Given the description of an element on the screen output the (x, y) to click on. 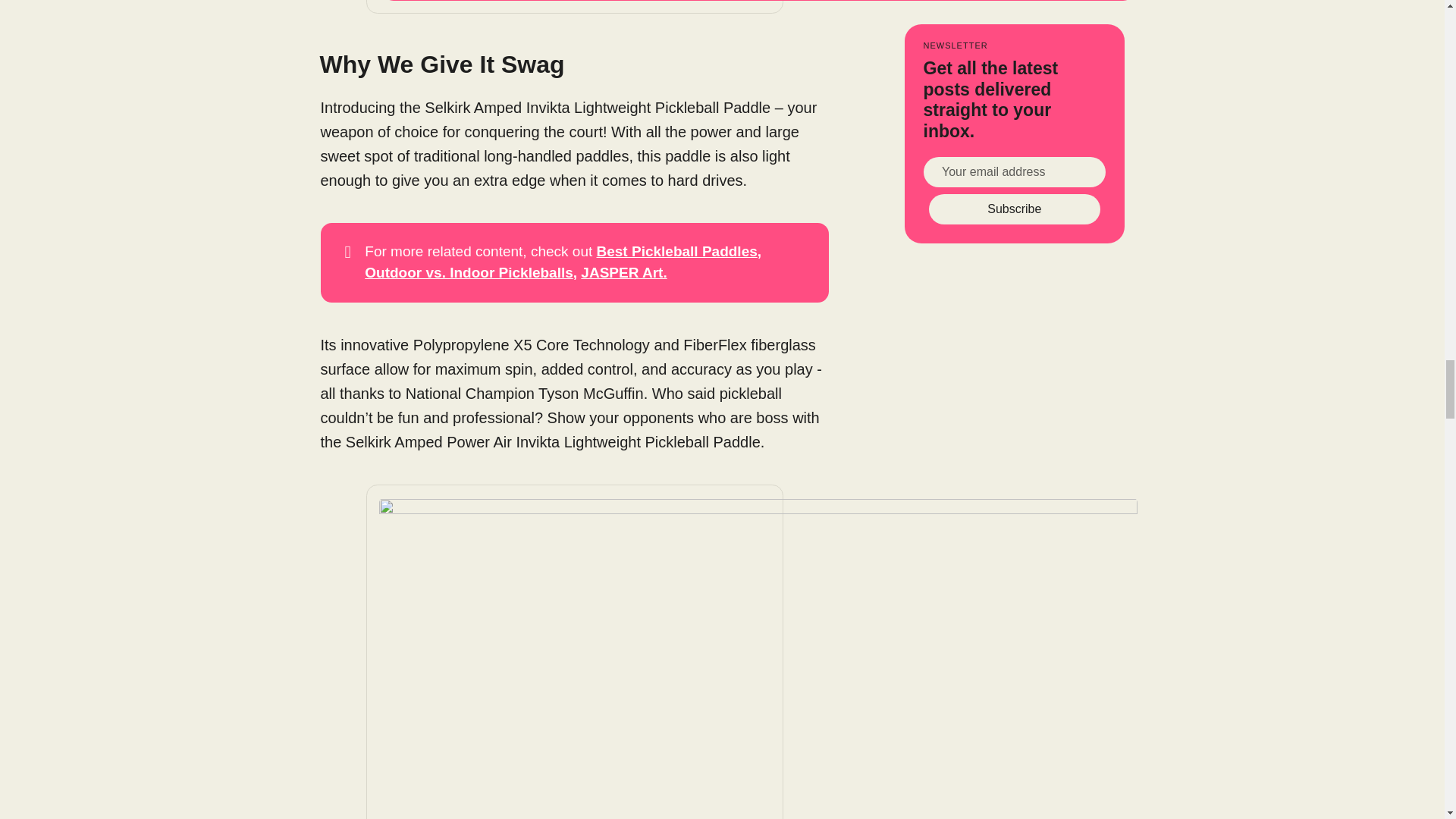
Best Pickleball Paddles (676, 251)
Outdoor vs. Indoor Pickleballs (469, 272)
JASPER Art. (623, 272)
